Given the description of an element on the screen output the (x, y) to click on. 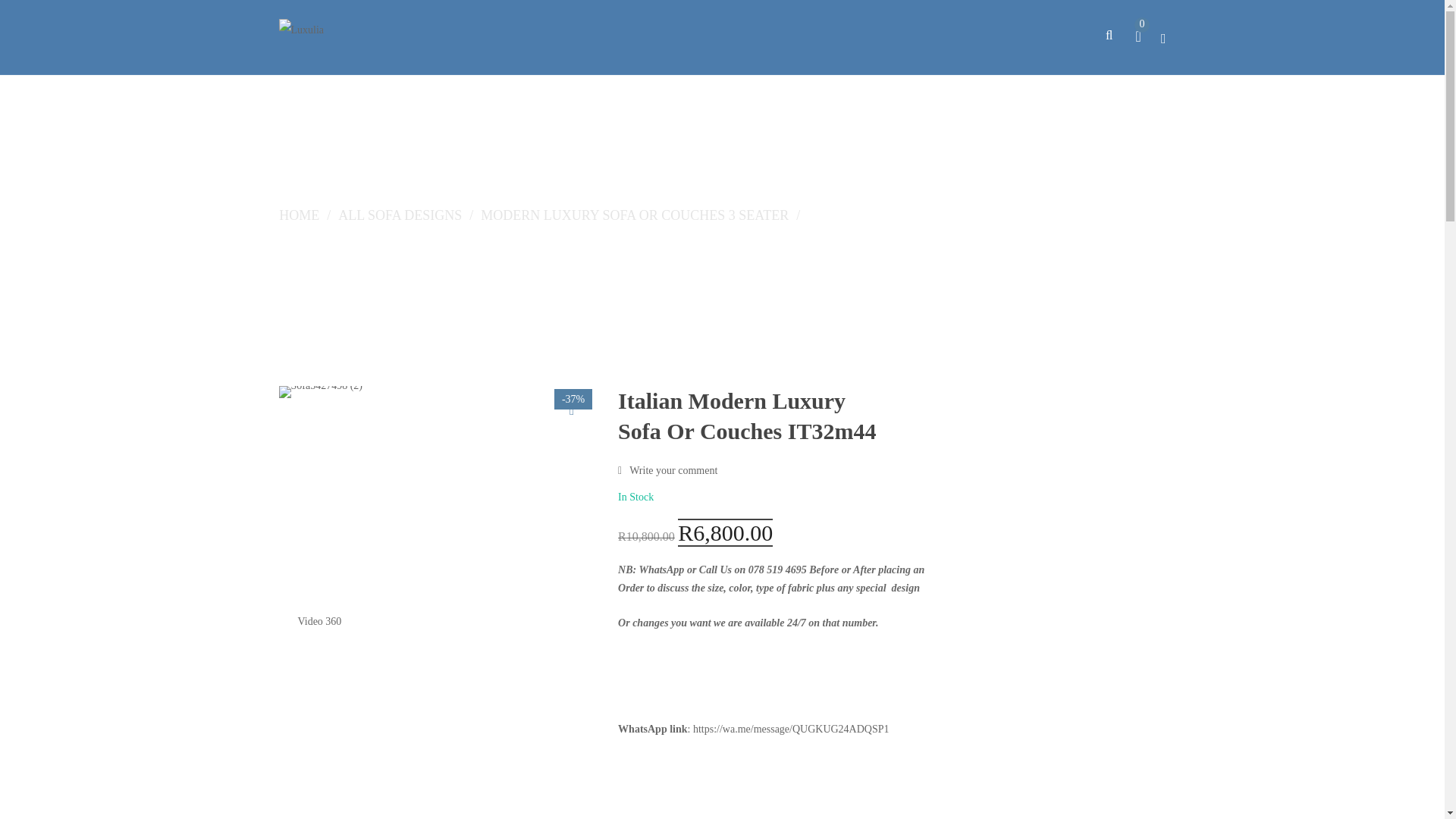
0 (1140, 38)
WhatsApp (661, 569)
Luxulia (301, 29)
Video 360 (320, 621)
HOME (298, 215)
MODERN LUXURY SOFA OR COUCHES 3 SEATER (634, 215)
Write your comment (667, 470)
ALL SOFA DESIGNS (399, 215)
